Given the description of an element on the screen output the (x, y) to click on. 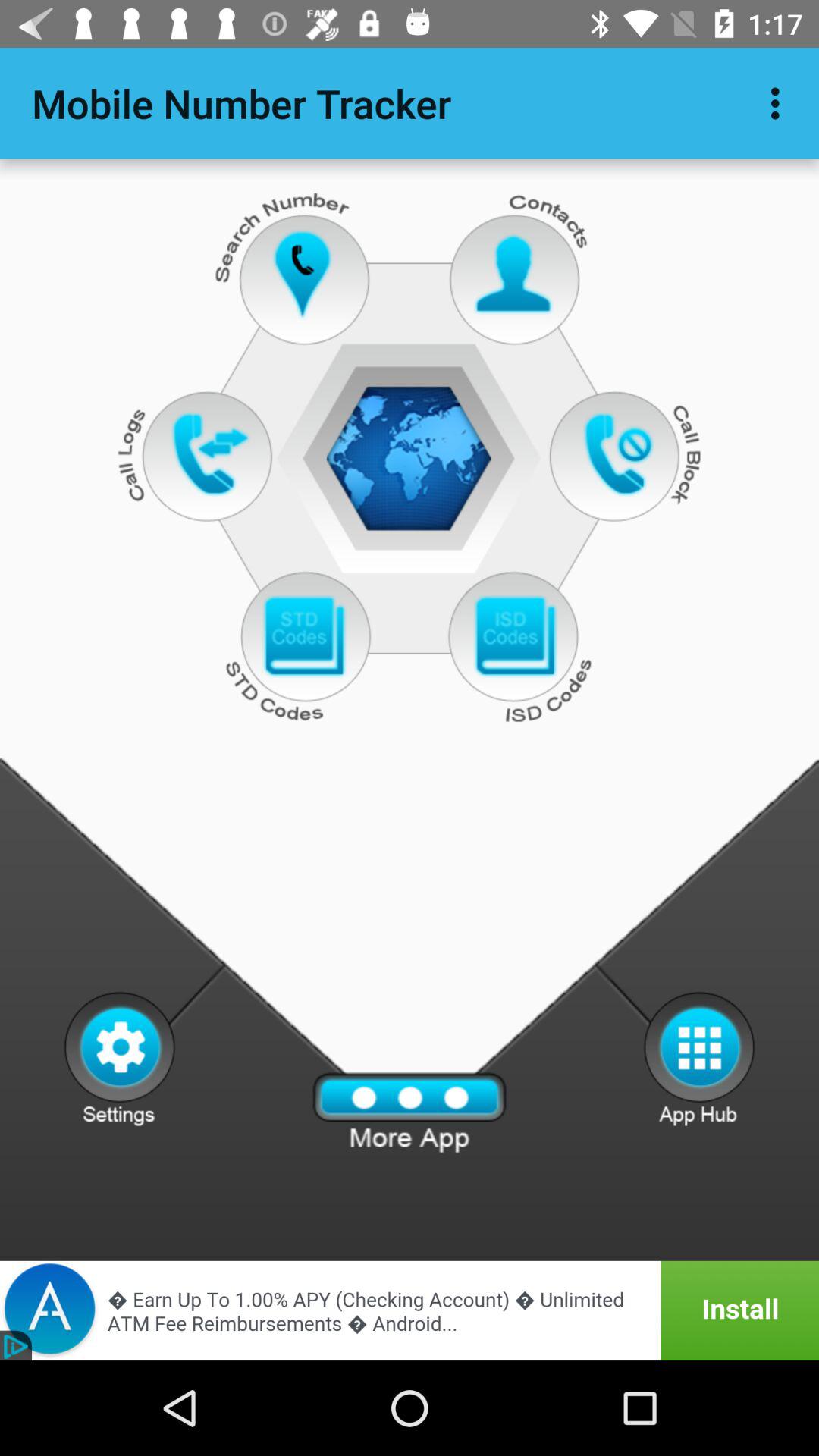
see other options (698, 1057)
